Given the description of an element on the screen output the (x, y) to click on. 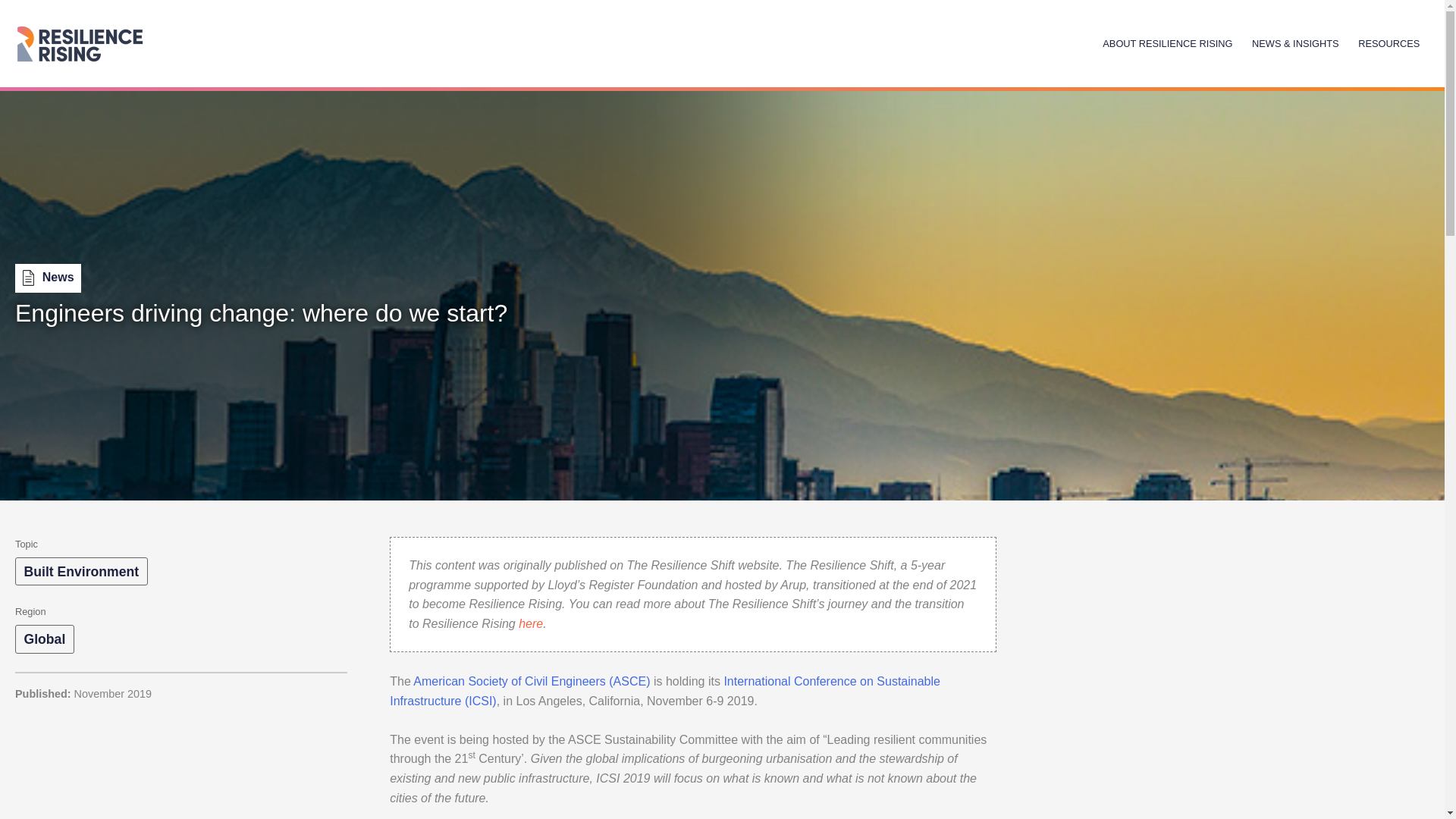
Global (44, 638)
ABOUT RESILIENCE RISING (1168, 42)
News (47, 277)
Built Environment (81, 571)
RESOURCES (1388, 42)
here (530, 623)
